Given the description of an element on the screen output the (x, y) to click on. 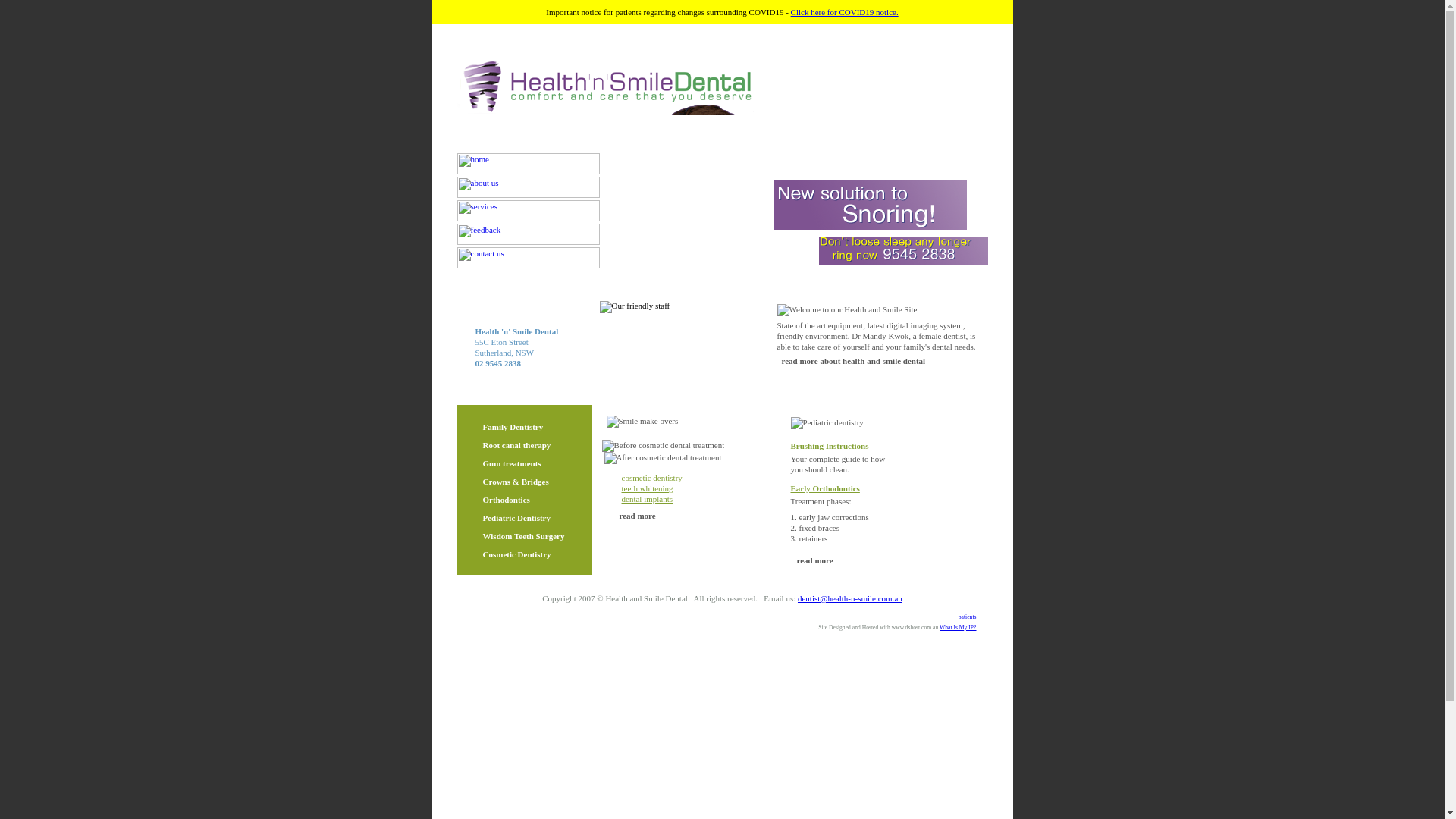
Early Orthodontics Element type: text (824, 487)
Cosmetic Dentistry Element type: text (516, 553)
dentist@health-n-smile.com.au Element type: text (849, 597)
Brushing Instructions Element type: text (829, 445)
read more about health and smile dental Element type: text (853, 360)
teeth whitening Element type: text (647, 487)
Click here for COVID19 notice. Element type: text (844, 11)
Family Dentistry Element type: text (512, 426)
Gum treatments Element type: text (511, 462)
patients Element type: text (967, 616)
Wisdom Teeth Surgery Element type: text (523, 535)
cosmetic dentistry Element type: text (651, 477)
Root canal therapy Element type: text (516, 444)
Orthodontics Element type: text (505, 499)
Pediatric Dentistry Element type: text (516, 517)
Crowns & Bridges Element type: text (515, 481)
read more Element type: text (814, 559)
dental implants Element type: text (647, 498)
read more Element type: text (636, 515)
What Is My IP? Element type: text (957, 627)
